Given the description of an element on the screen output the (x, y) to click on. 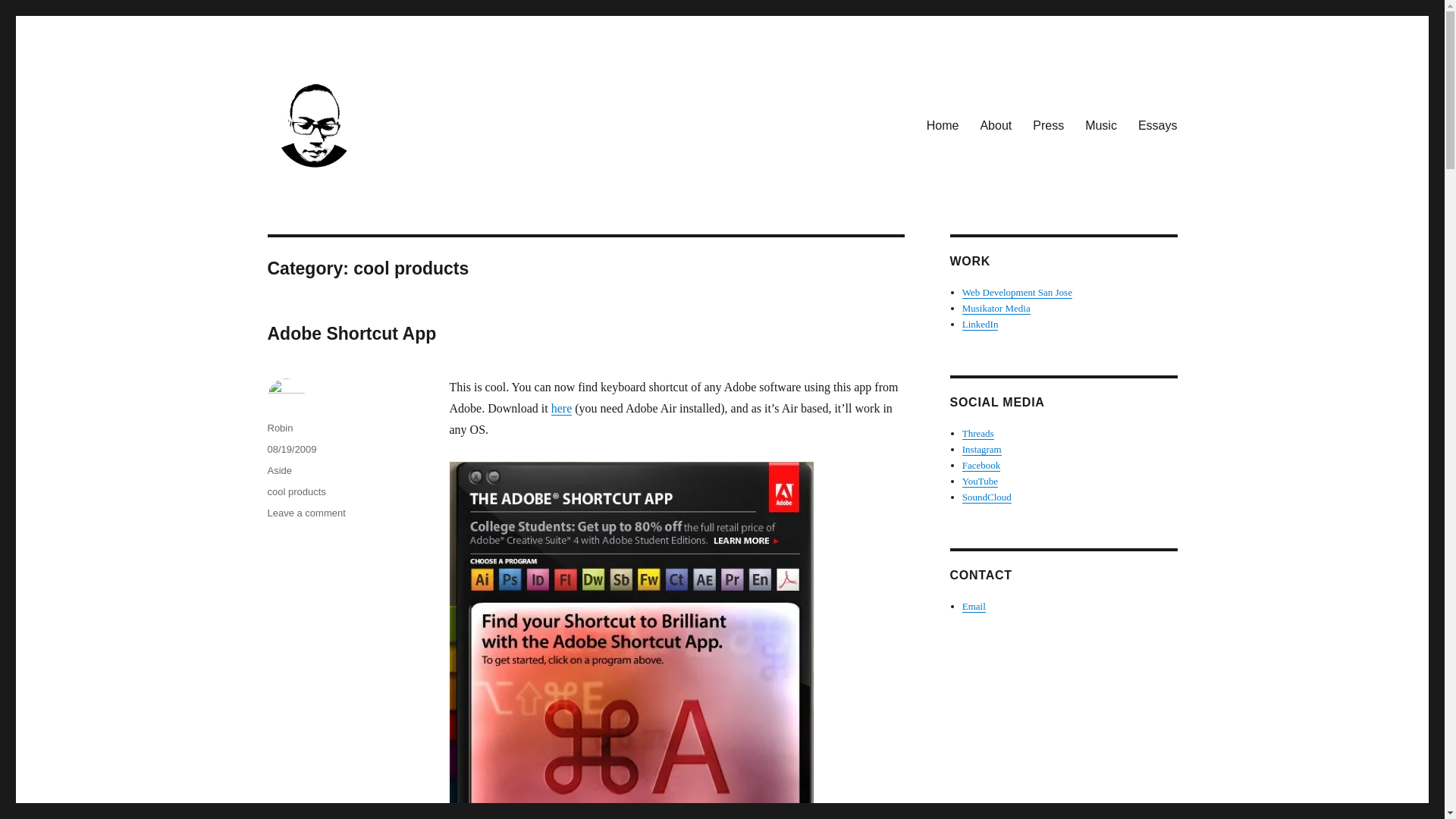
Aside (279, 470)
Press (1048, 124)
Essays (1157, 124)
Home (942, 124)
Robin (279, 428)
here (561, 408)
Music (1100, 124)
Adobe Shortcut App (350, 333)
cool products (295, 491)
About (995, 124)
